Given the description of an element on the screen output the (x, y) to click on. 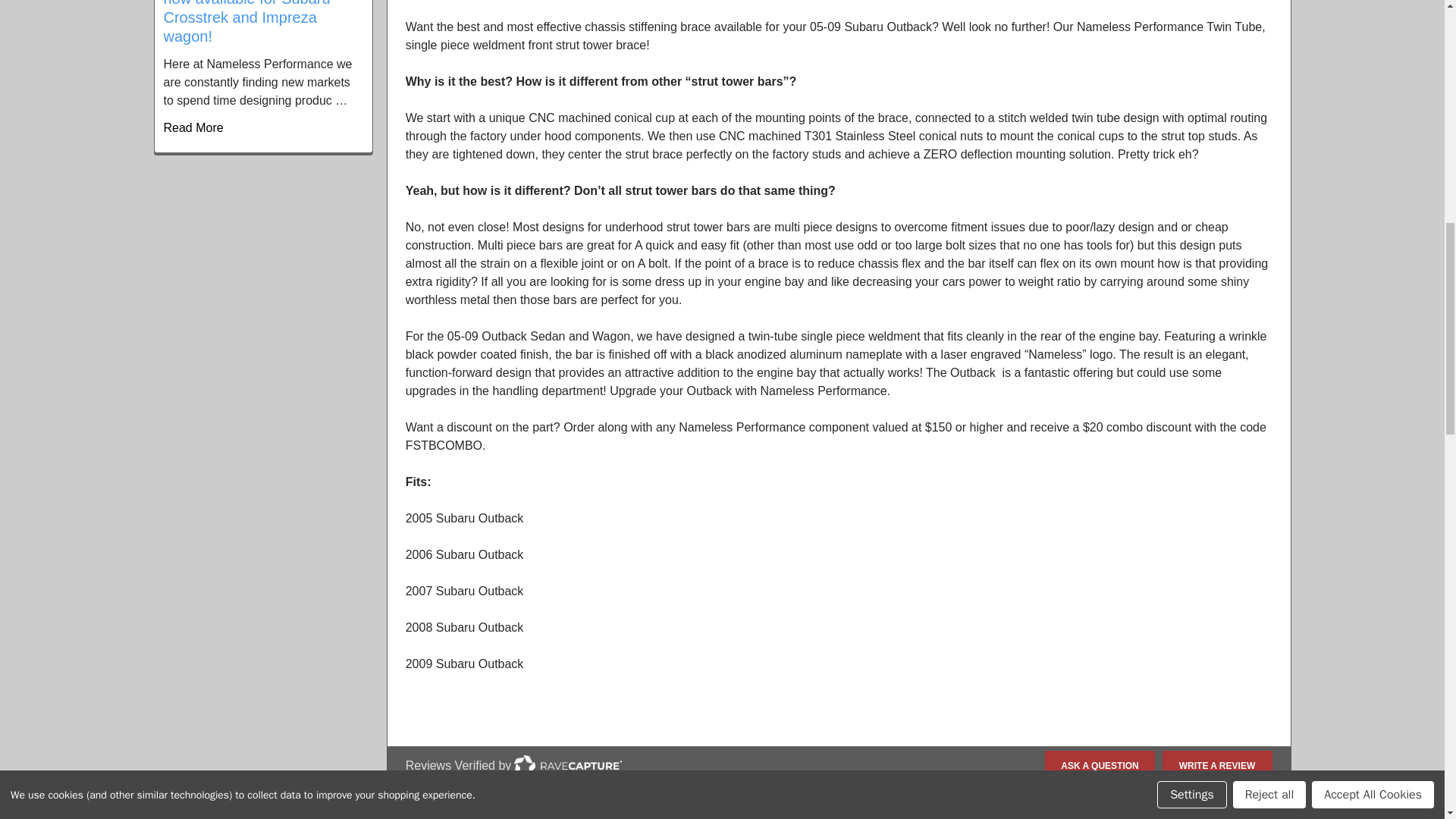
RaveCapture Logo (567, 765)
